Given the description of an element on the screen output the (x, y) to click on. 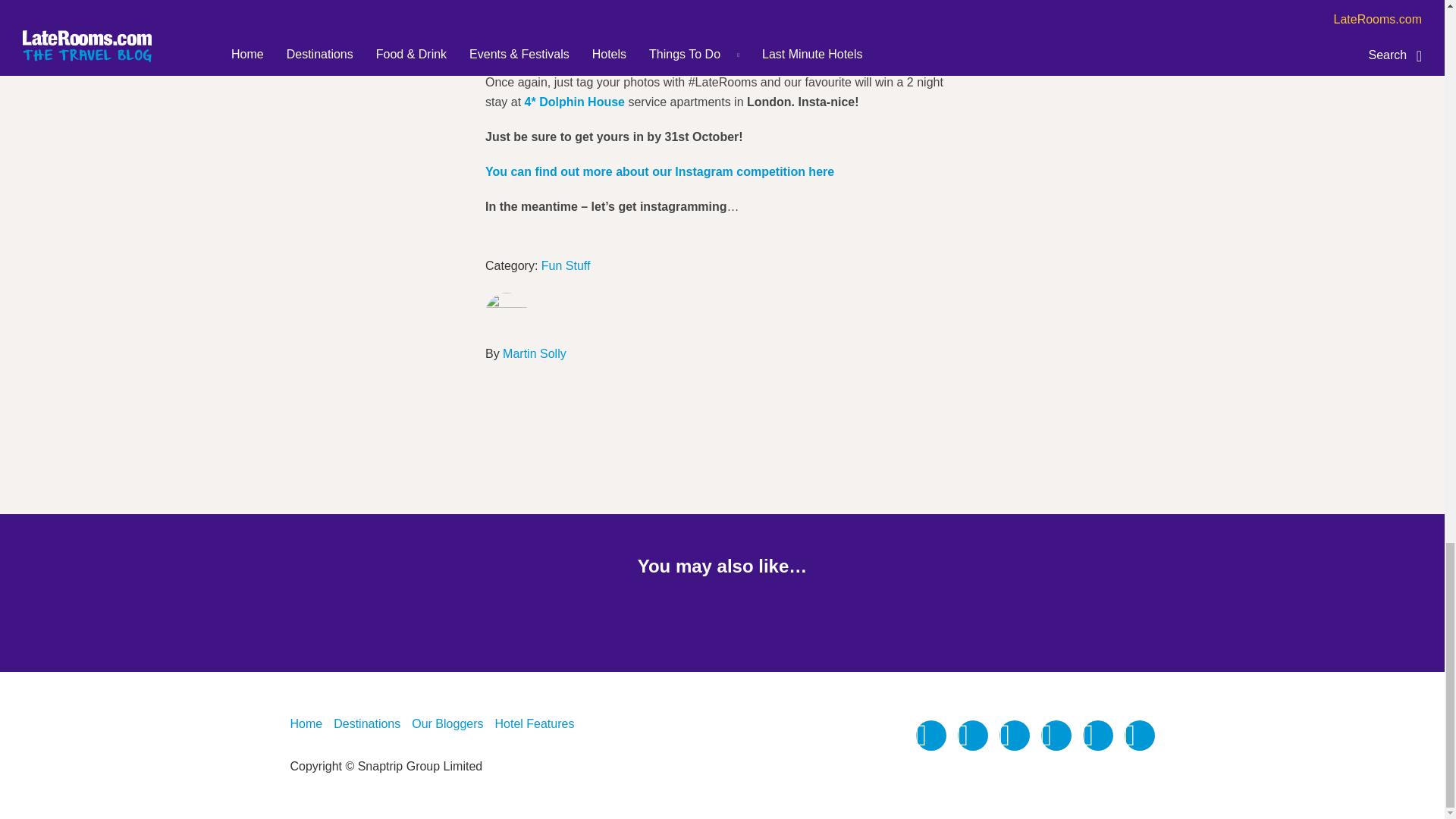
Fun Stuff (566, 265)
Martin Solly (534, 353)
Home (305, 723)
Our Bloggers (447, 723)
WIN A LUXURY HOTEL STAY (577, 6)
Destinations (366, 723)
You can find out more about our Instagram competition here (659, 171)
Instagram Competition (659, 171)
Instagram Competition (577, 6)
Dolphin House (574, 101)
Hotel Features (534, 723)
